Given the description of an element on the screen output the (x, y) to click on. 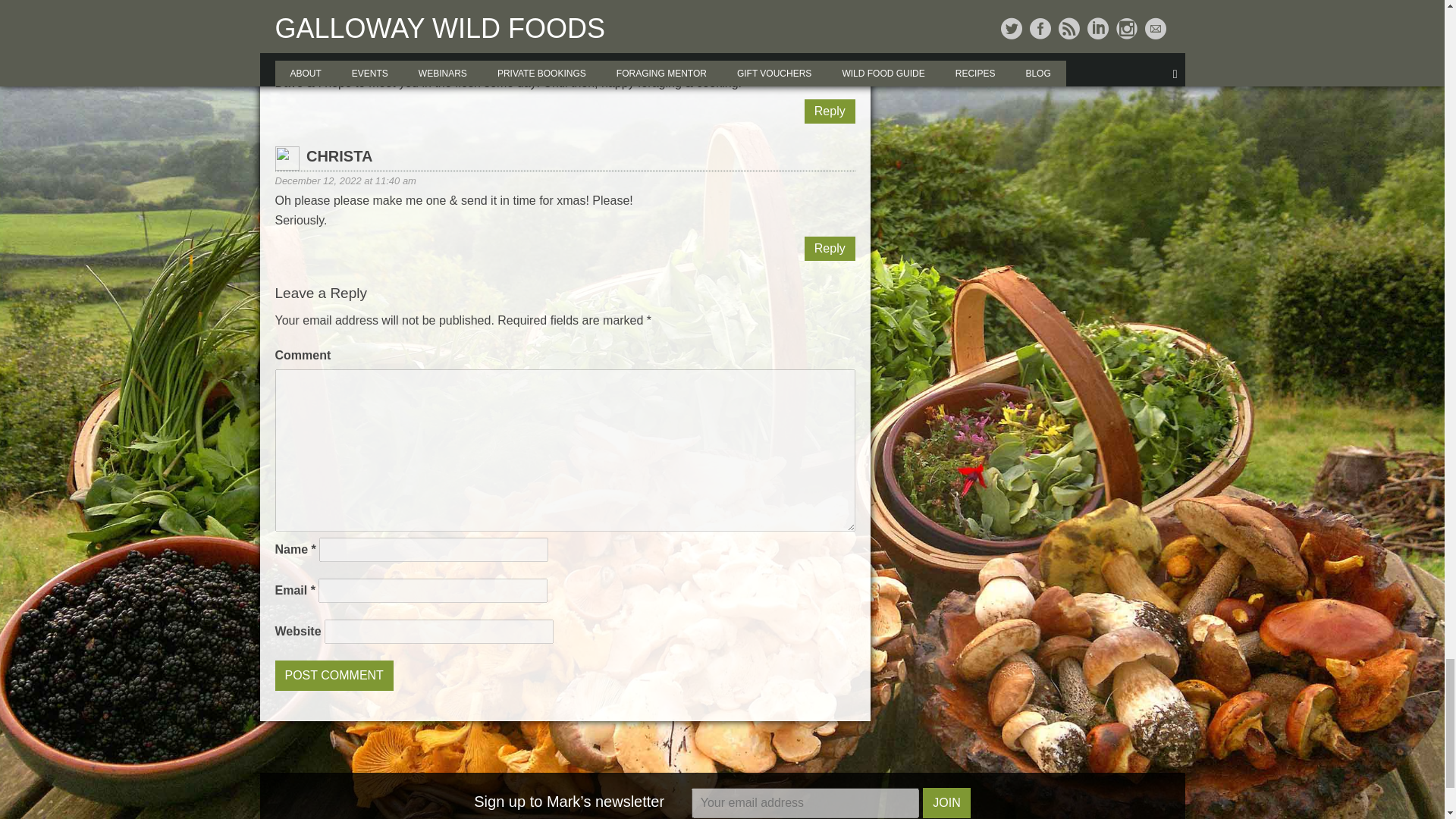
Join (946, 802)
Post Comment (334, 675)
